Given the description of an element on the screen output the (x, y) to click on. 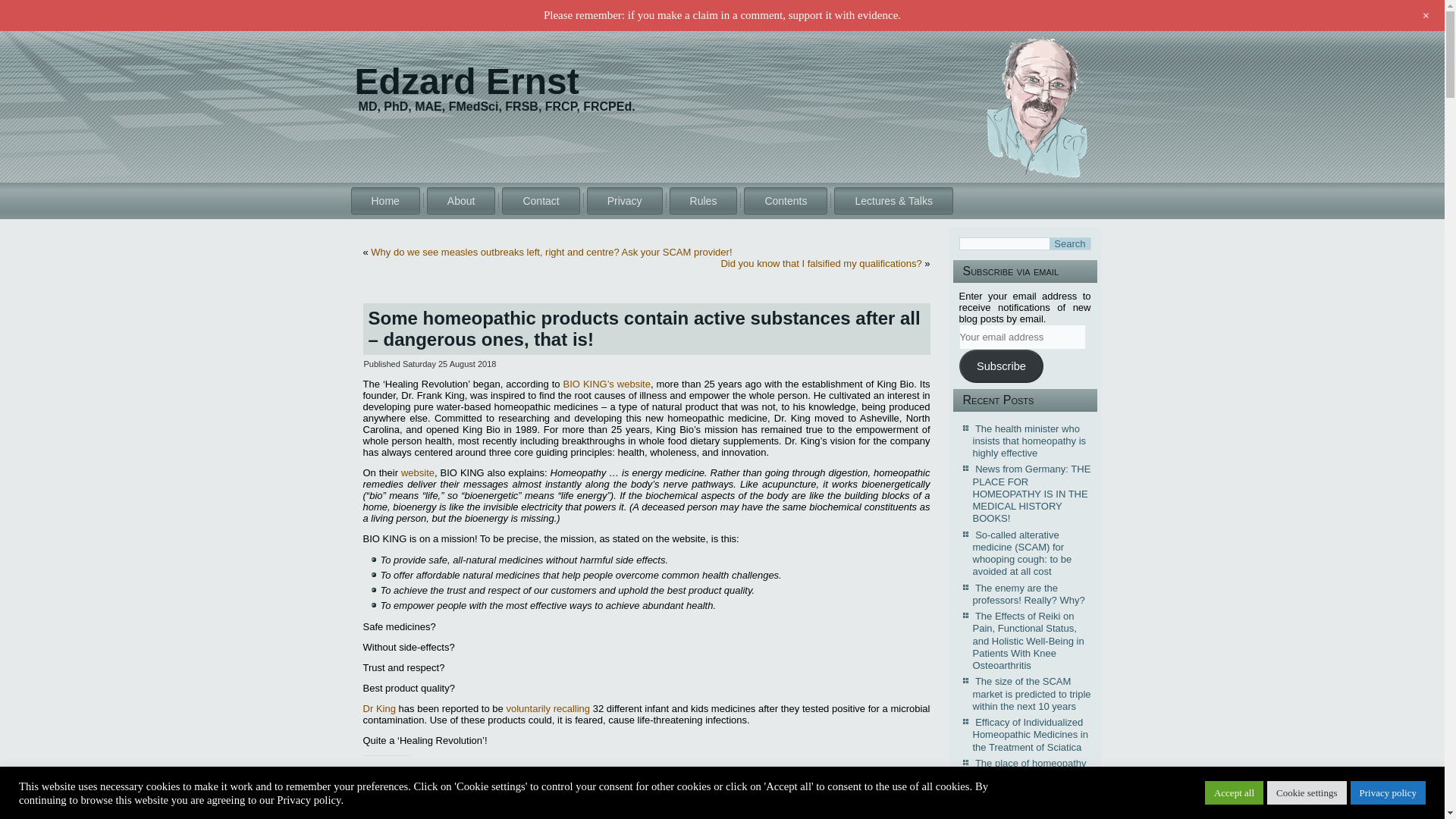
Contents (785, 200)
website (417, 472)
Did you know that I falsified my qualifications? (820, 263)
Privacy (624, 200)
Edzard Ernst (467, 81)
Click to share on Facebook (404, 796)
voluntarily recalling (547, 708)
Click to share on LinkedIn (434, 796)
Rules (703, 200)
Home (384, 200)
Search (1069, 243)
About (461, 200)
Click to share on Twitter (374, 796)
Contact (540, 200)
